Given the description of an element on the screen output the (x, y) to click on. 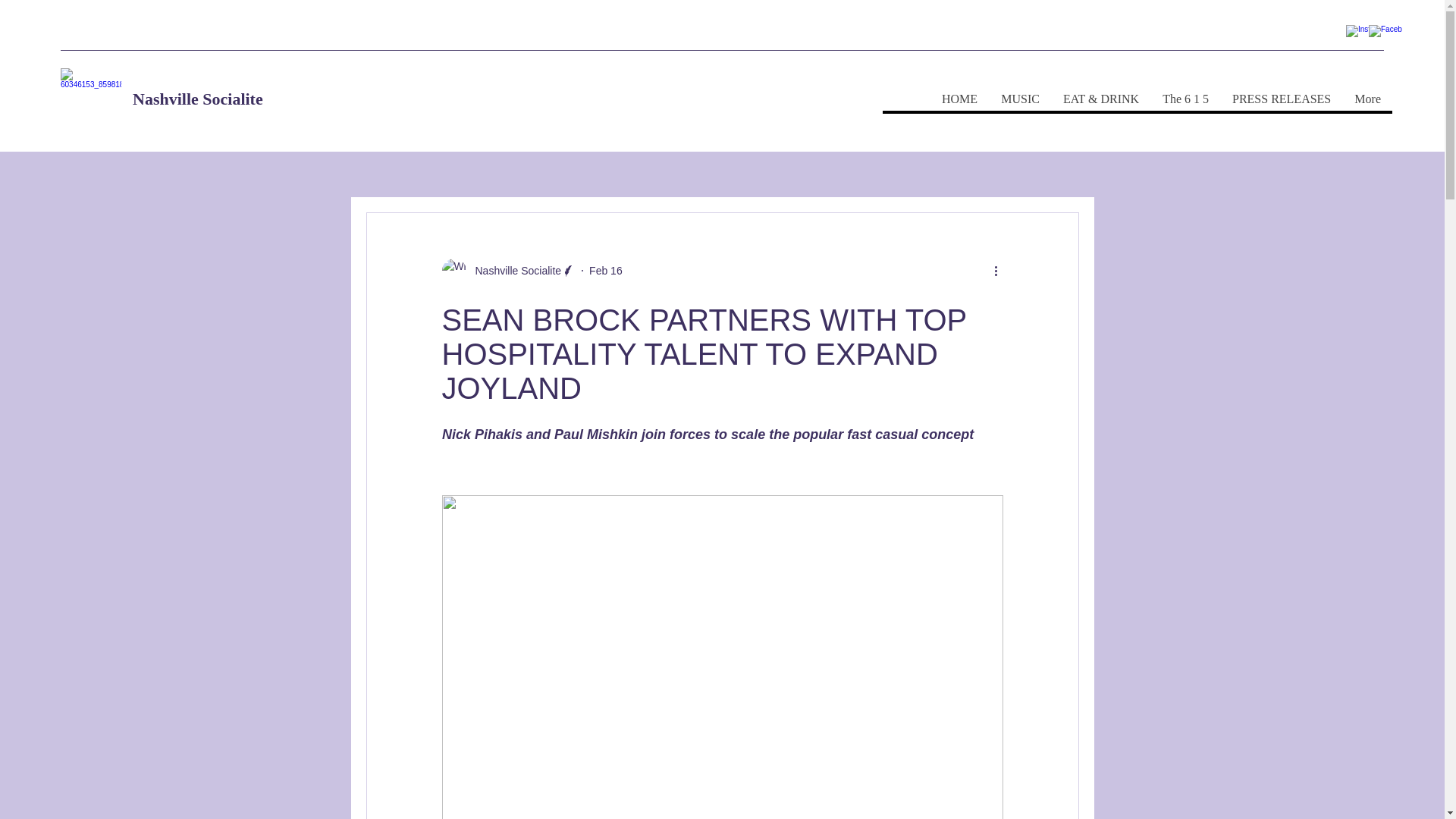
MUSIC (1019, 98)
Feb 16 (606, 269)
Nashville Socialite (197, 98)
PRESS RELEASES (1281, 98)
The 6 1 5 (1185, 98)
HOME (959, 98)
Nashville Socialite (512, 270)
